Given the description of an element on the screen output the (x, y) to click on. 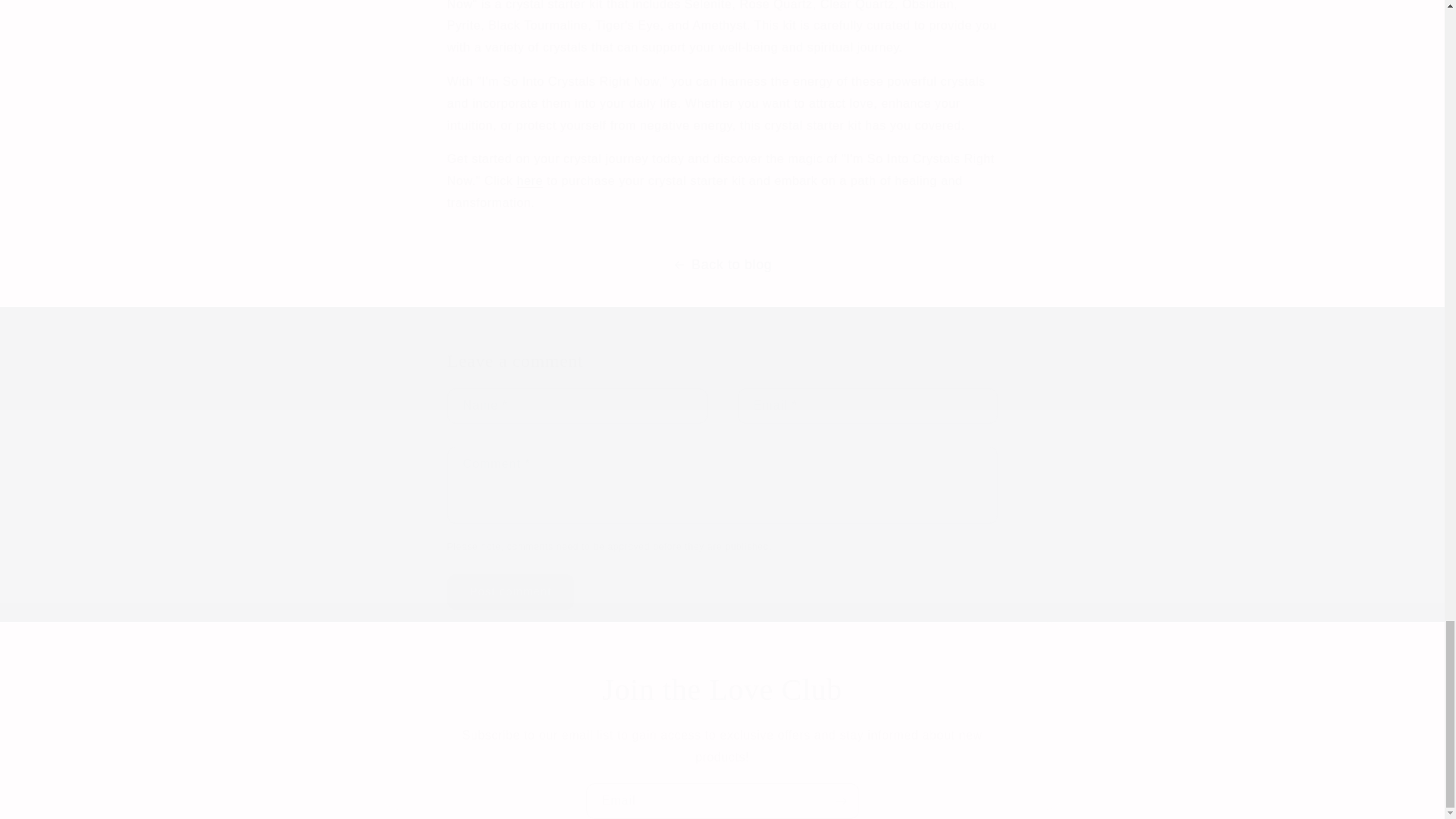
Post comment (510, 591)
here (529, 180)
Join the Love Club (721, 690)
Post comment (510, 591)
